Given the description of an element on the screen output the (x, y) to click on. 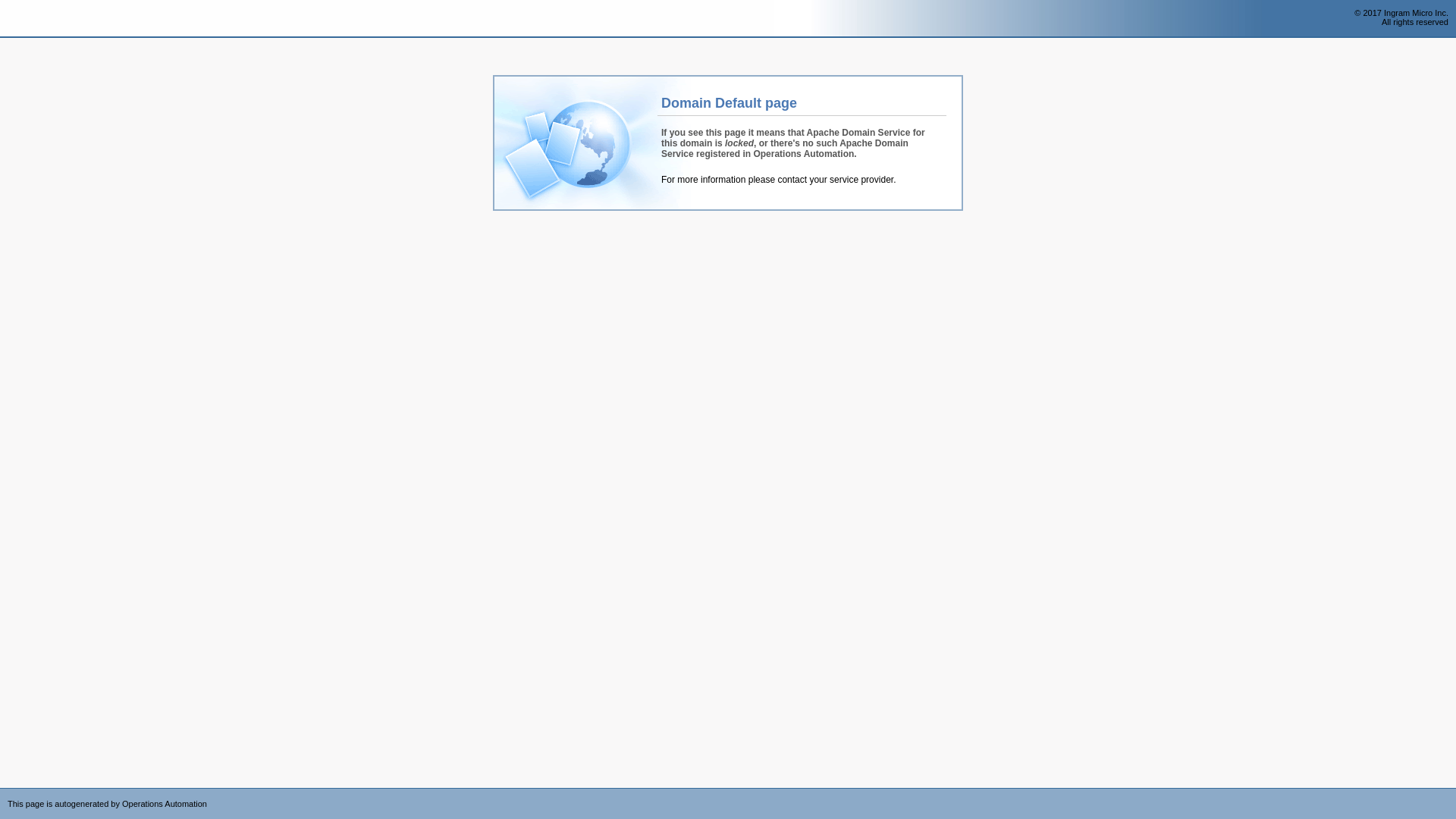
Operations Automation Element type: text (39, 18)
Powered by CloudBlue Commerce Element type: hover (1447, 792)
